Given the description of an element on the screen output the (x, y) to click on. 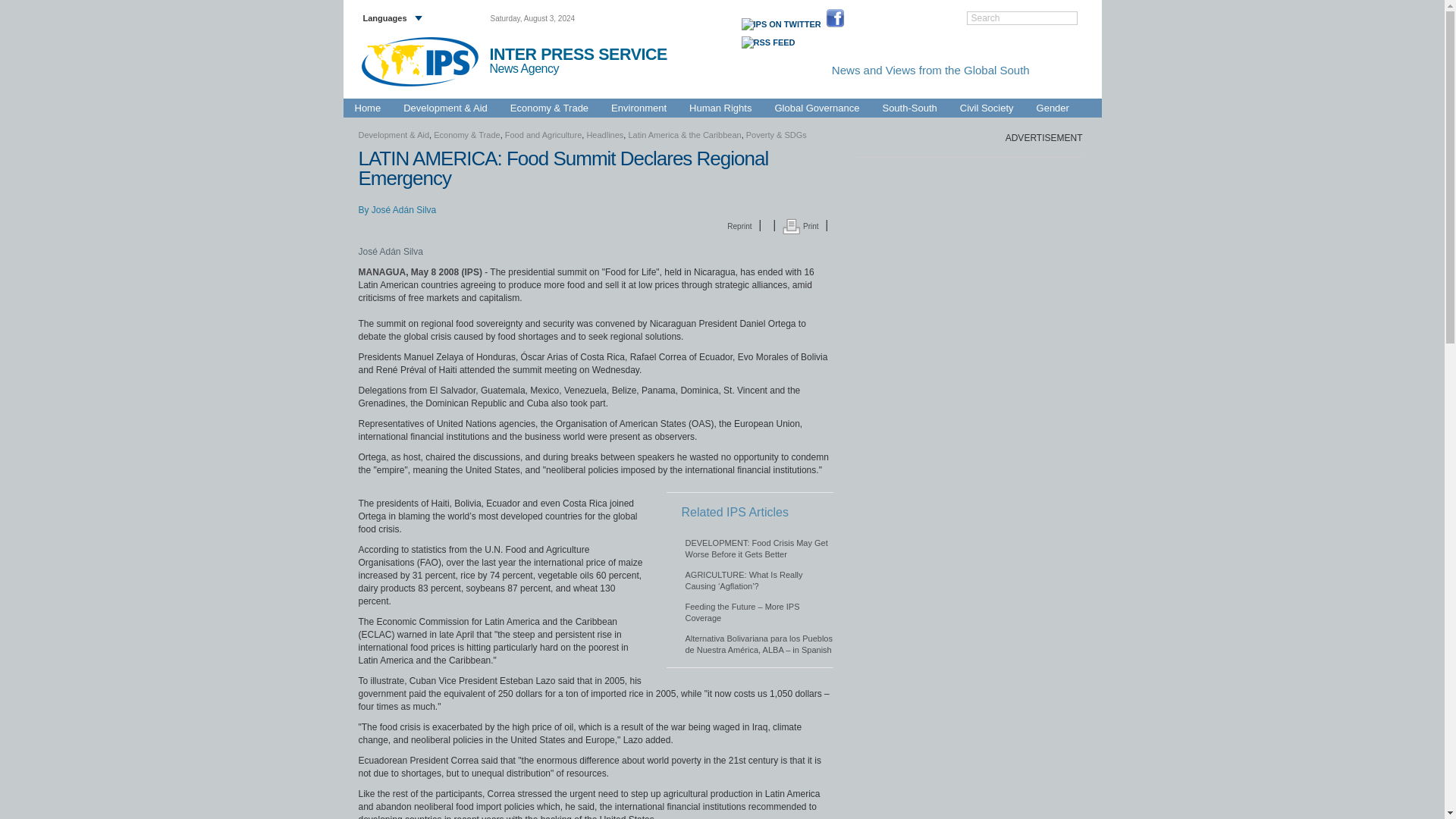
News Agency (531, 69)
North America (1025, 90)
Europe (744, 90)
Asia-Pacific (699, 90)
Global (1073, 90)
INTER PRESS SERVICE (577, 54)
Search (1022, 18)
Home (366, 107)
Africa (657, 90)
